Given the description of an element on the screen output the (x, y) to click on. 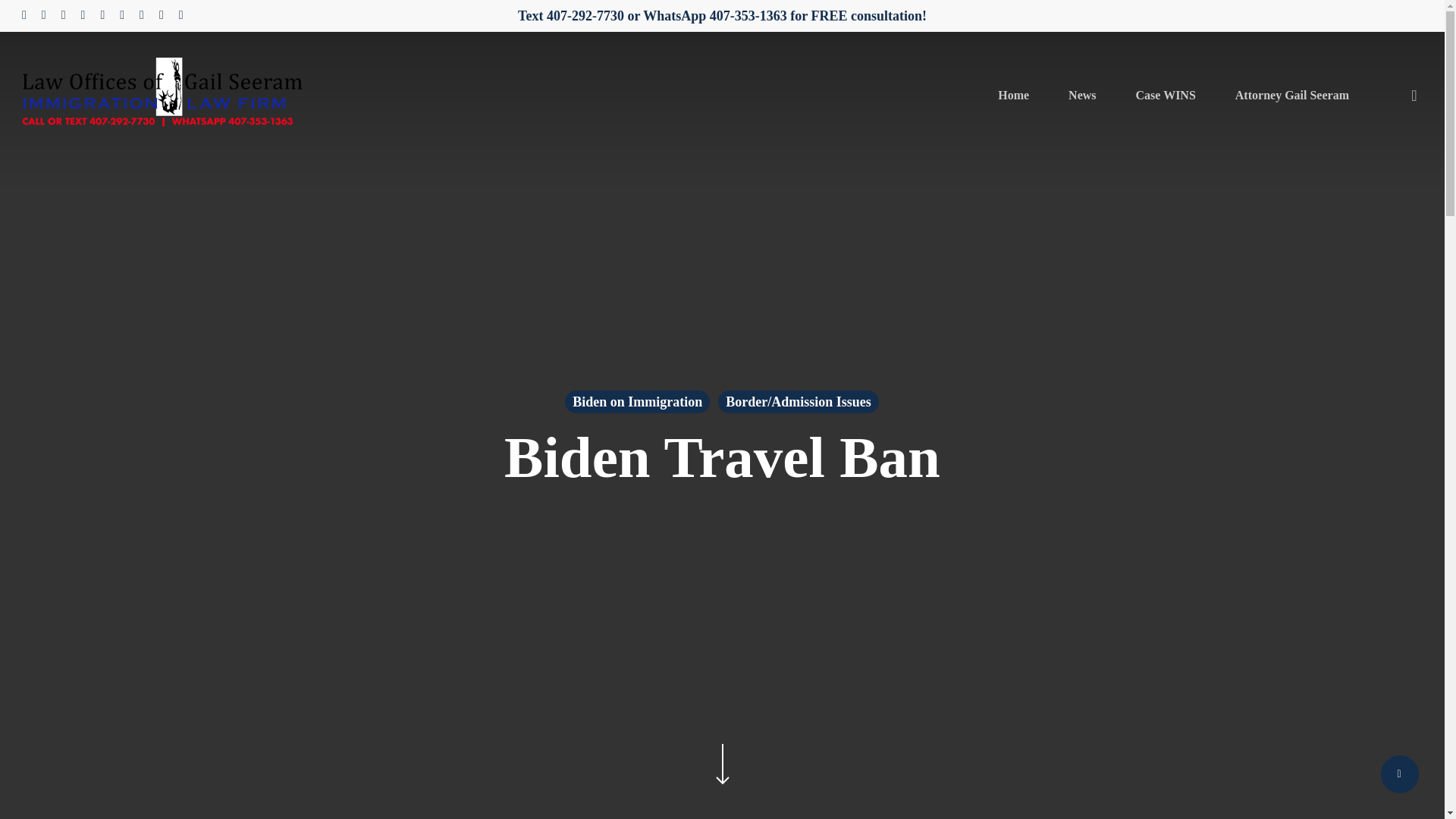
Attorney Gail Seeram (1291, 95)
Home (1013, 95)
Case WINS (1165, 95)
News (1082, 95)
search (1414, 95)
Biden on Immigration (637, 401)
